Given the description of an element on the screen output the (x, y) to click on. 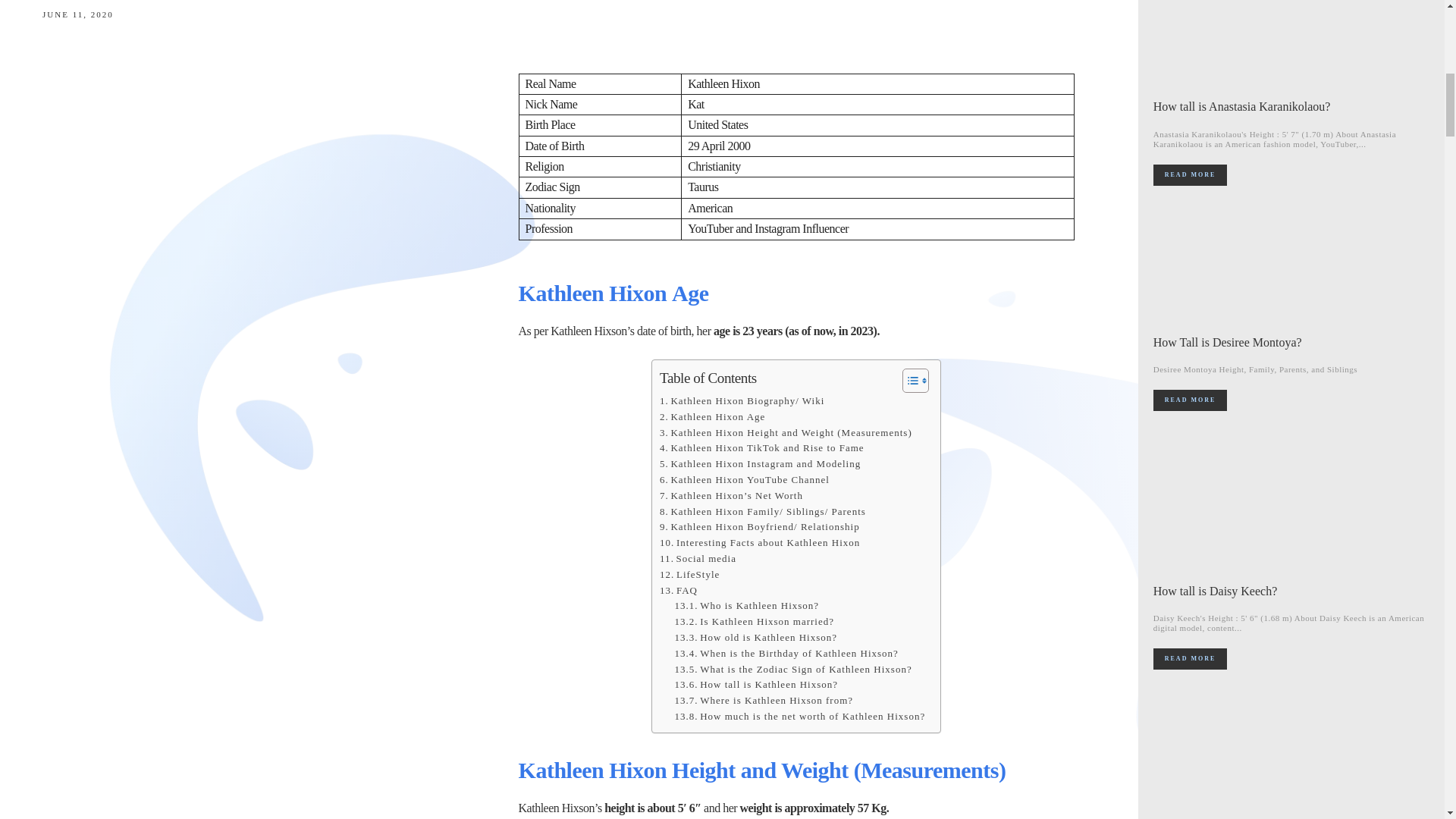
What is the Zodiac Sign of Kathleen Hixson? (793, 669)
FAQ (678, 590)
Kathleen Hixon TikTok and Rise to Fame  (761, 448)
Kathleen Hixon YouTube Channel  (744, 480)
Interesting Facts about Kathleen Hixon (759, 543)
Kathleen Hixon Age  (712, 417)
Social media  (697, 559)
LifeStyle (689, 575)
When is the Birthday of Kathleen Hixson? (786, 653)
Who is Kathleen Hixson? (747, 606)
How old is Kathleen Hixson? (756, 637)
Kathleen Hixon Instagram and Modeling  (759, 464)
Is Kathleen Hixson married? (754, 621)
